Given the description of an element on the screen output the (x, y) to click on. 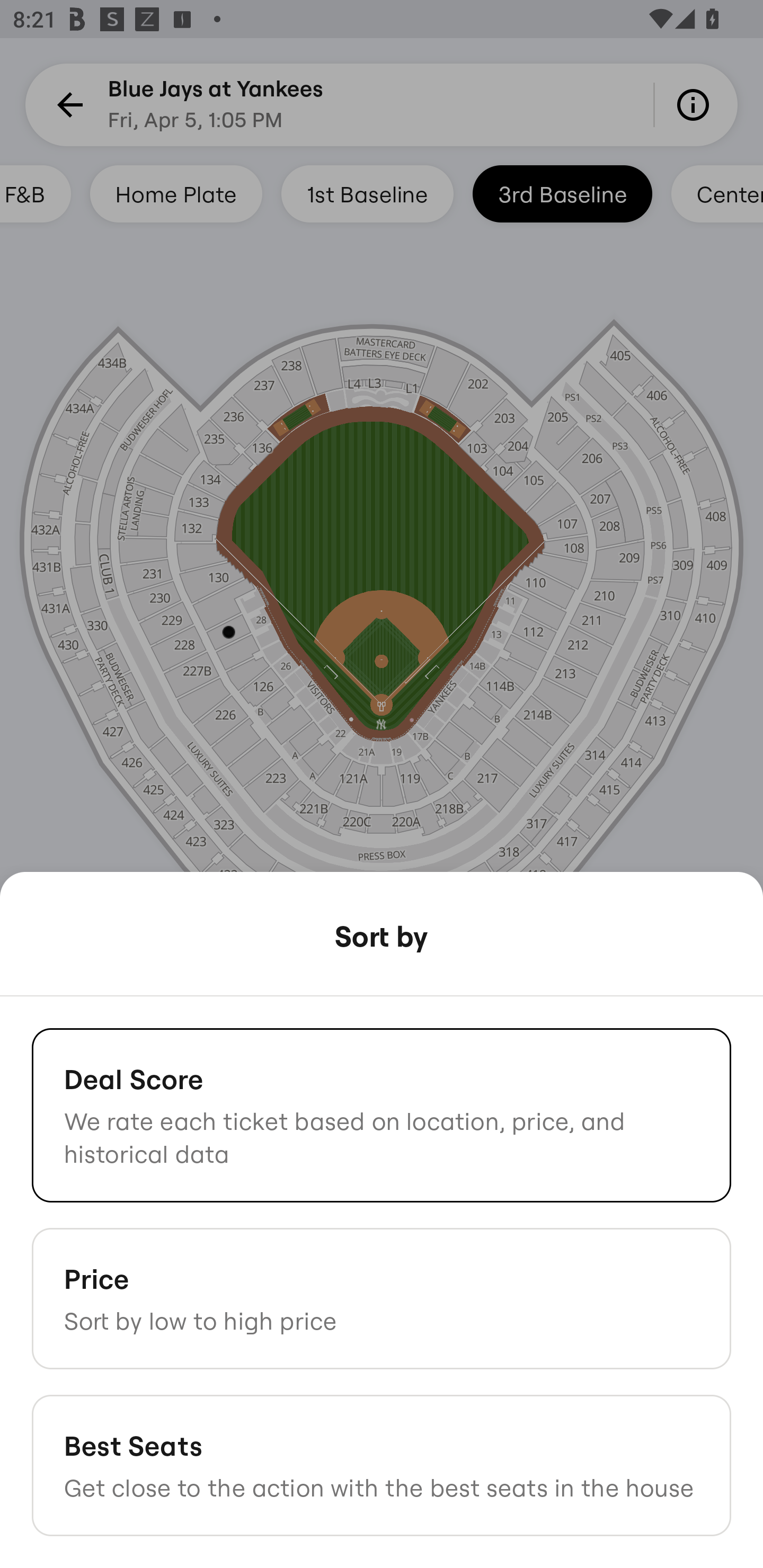
Price Sort by low to high price (381, 1297)
